Given the description of an element on the screen output the (x, y) to click on. 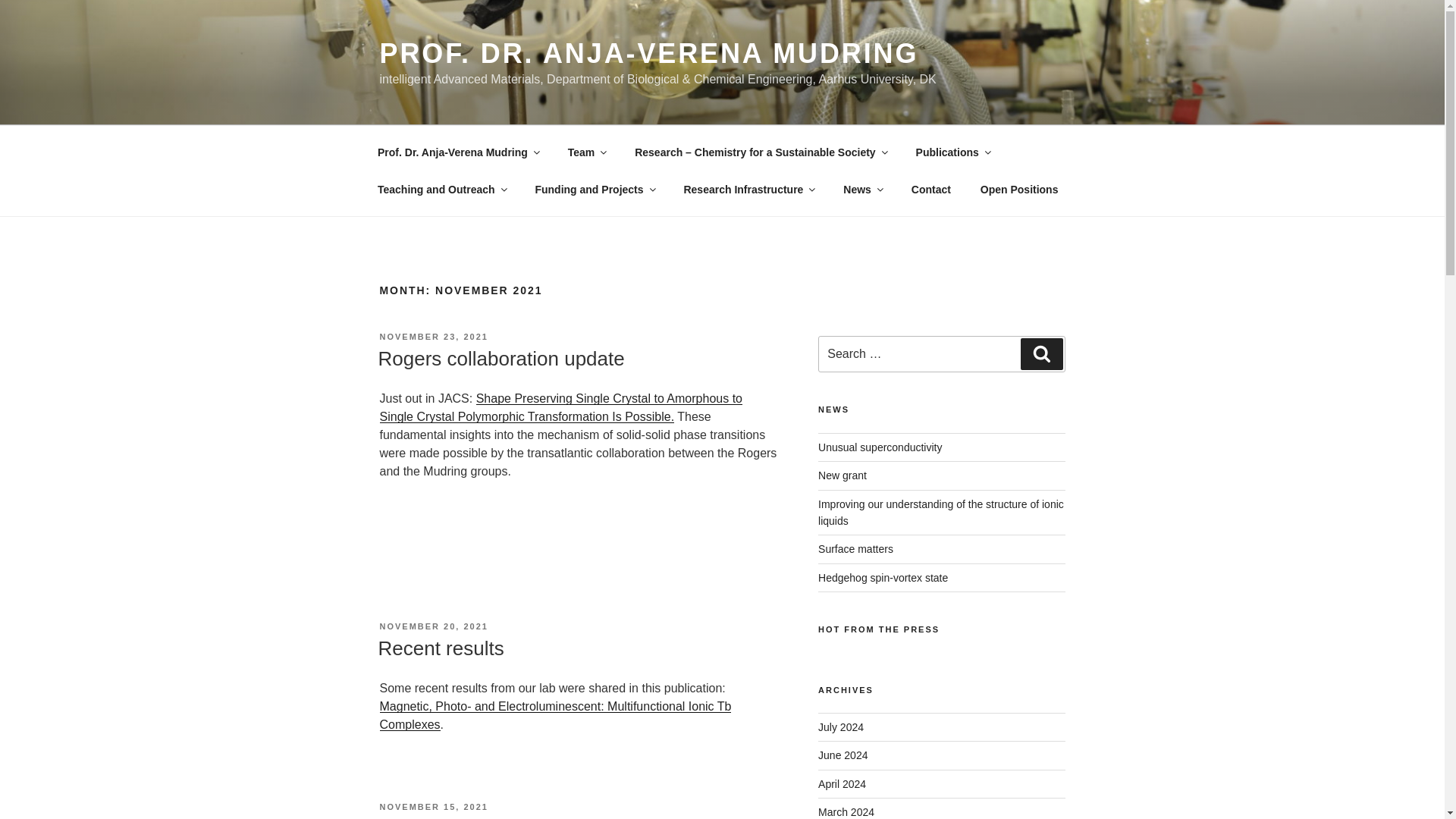
PROF. DR. ANJA-VERENA MUDRING (648, 52)
Prof. Dr. Anja-Verena Mudring (457, 151)
Team (586, 151)
